Given the description of an element on the screen output the (x, y) to click on. 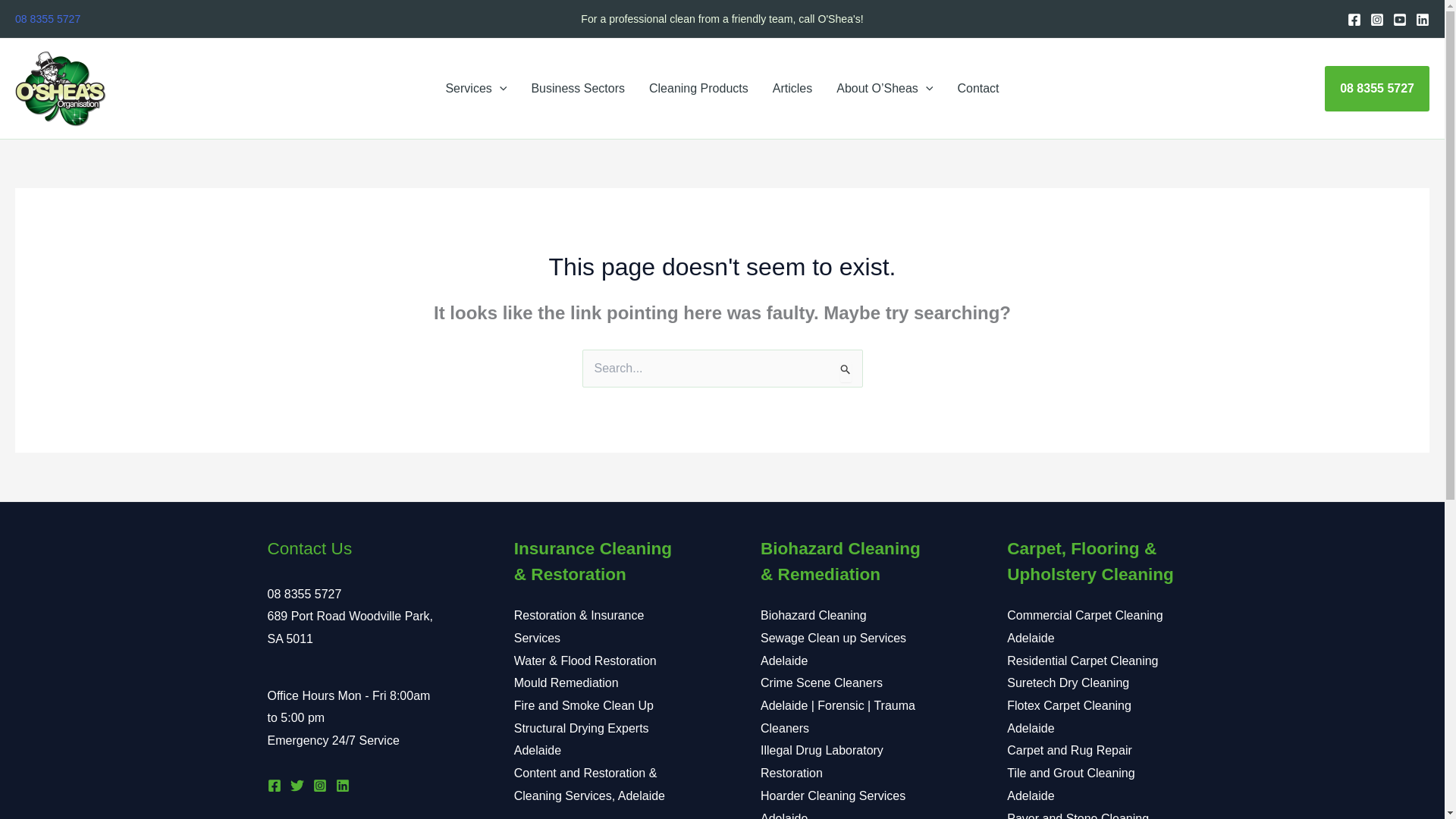
08 8355 5727 (47, 19)
Services (475, 88)
